Given the description of an element on the screen output the (x, y) to click on. 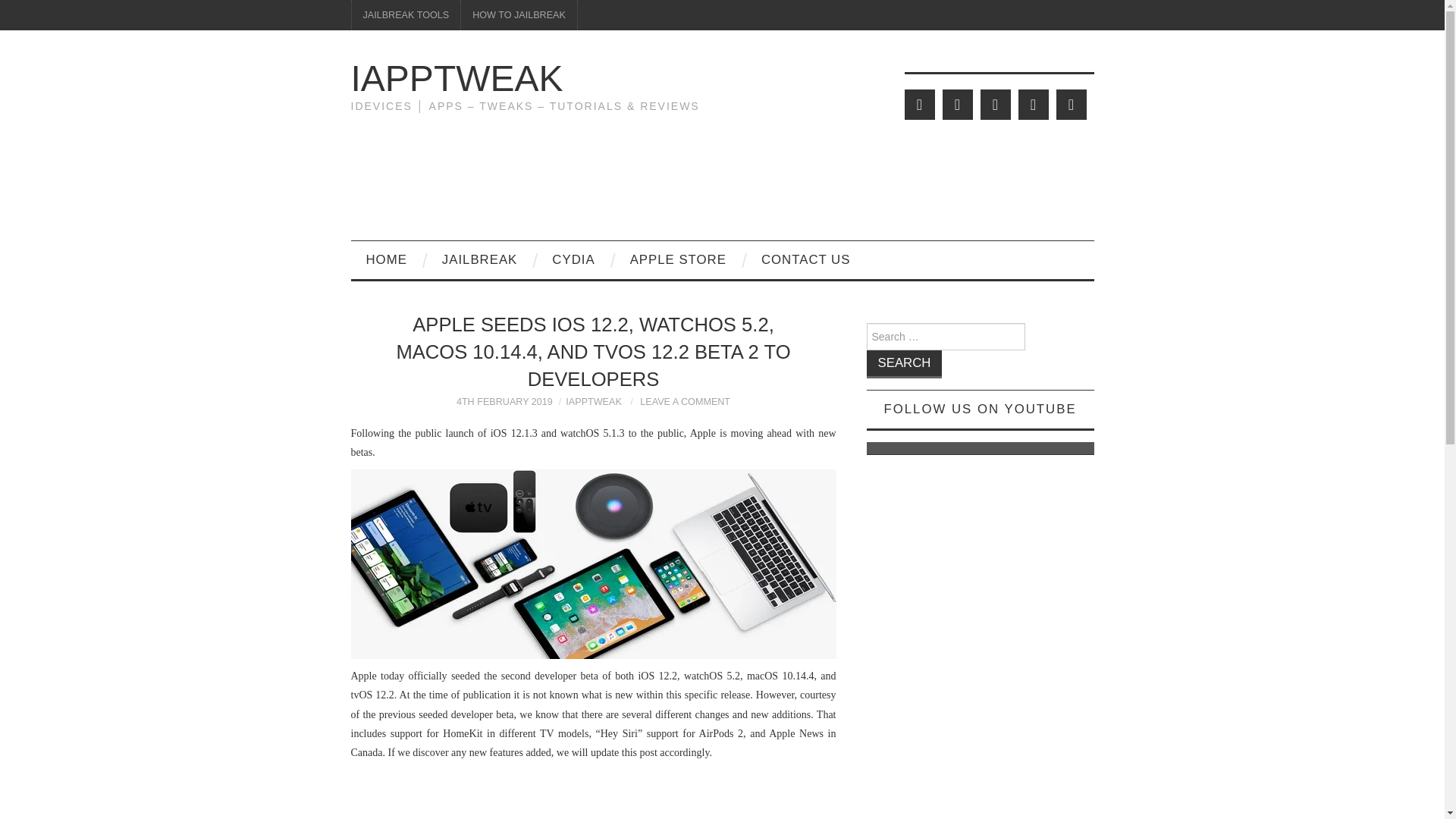
Search (904, 364)
Contact iappTweak (805, 259)
IAPPTWEAK (456, 78)
CONTACT US (805, 259)
IAPPTWEAK (593, 401)
Search for: (945, 336)
CYDIA (573, 259)
JAILBREAK TOOLS (406, 15)
Facebook (957, 104)
iappTweak (456, 78)
4TH FEBRUARY 2019 (505, 401)
 Jailbreak Tools (406, 15)
YouTube (1032, 104)
Search (904, 364)
Search (904, 364)
